Given the description of an element on the screen output the (x, y) to click on. 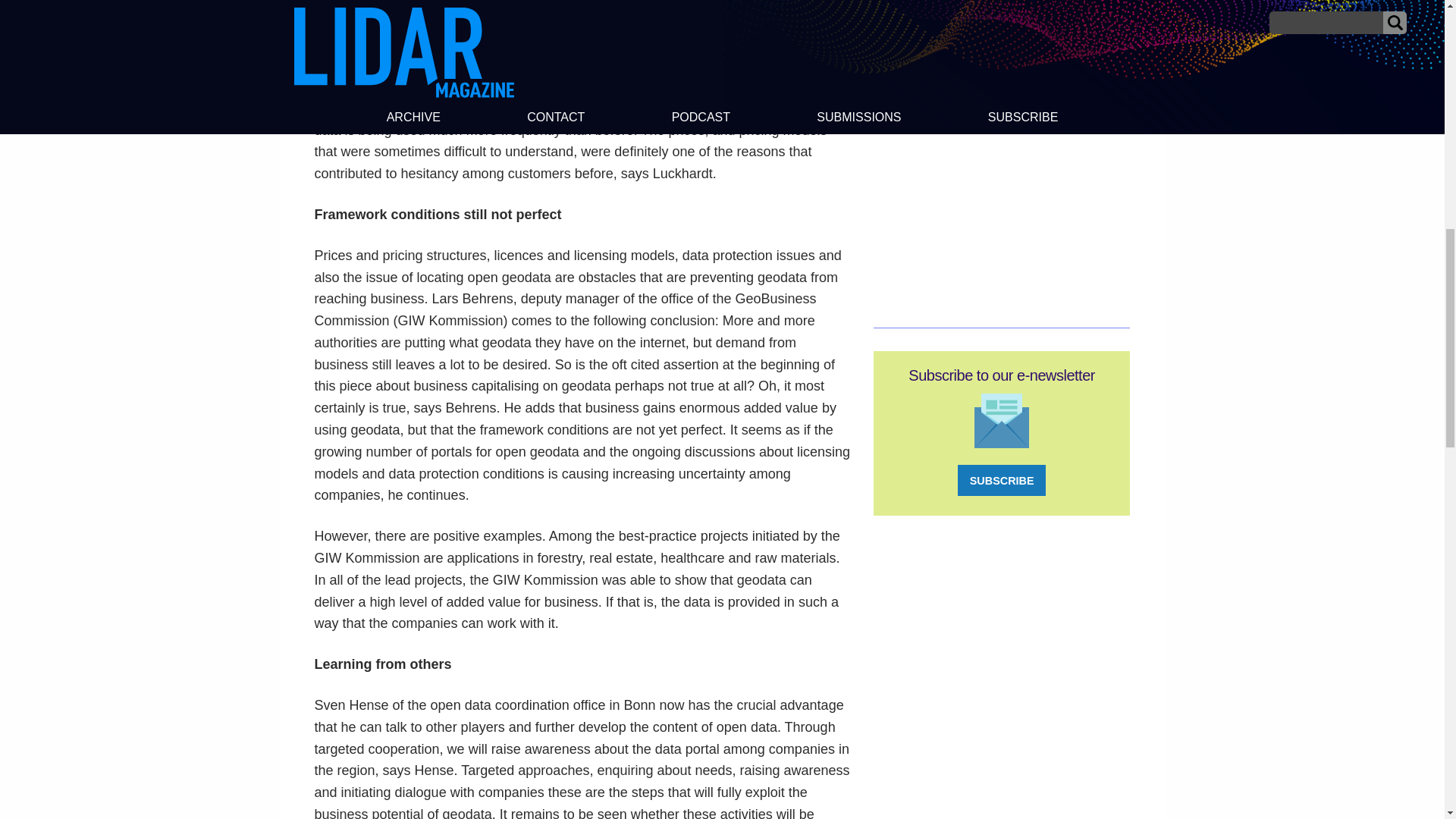
SUBSCRIBE (1001, 480)
